Given the description of an element on the screen output the (x, y) to click on. 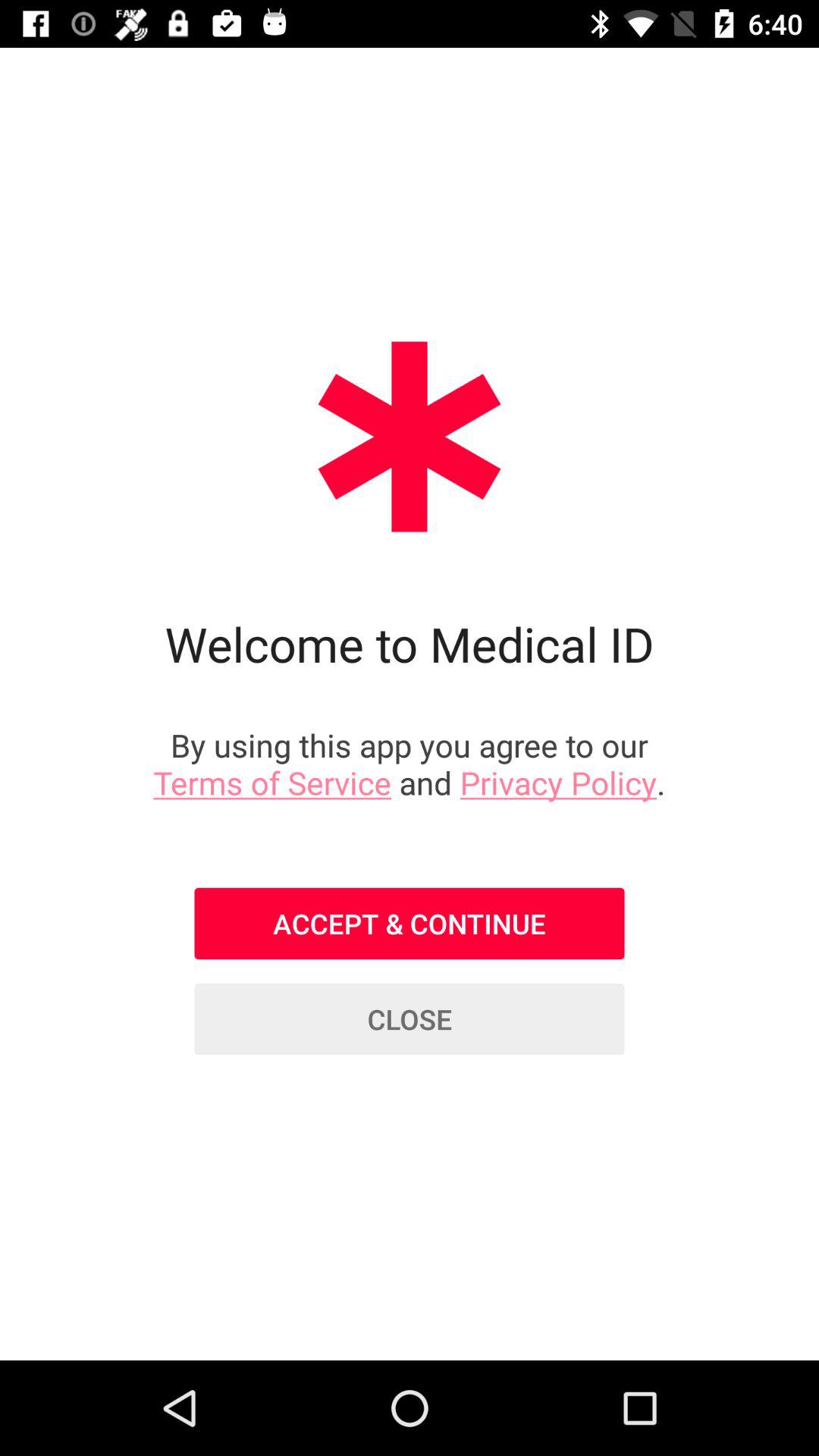
launch the icon above the close icon (409, 923)
